Given the description of an element on the screen output the (x, y) to click on. 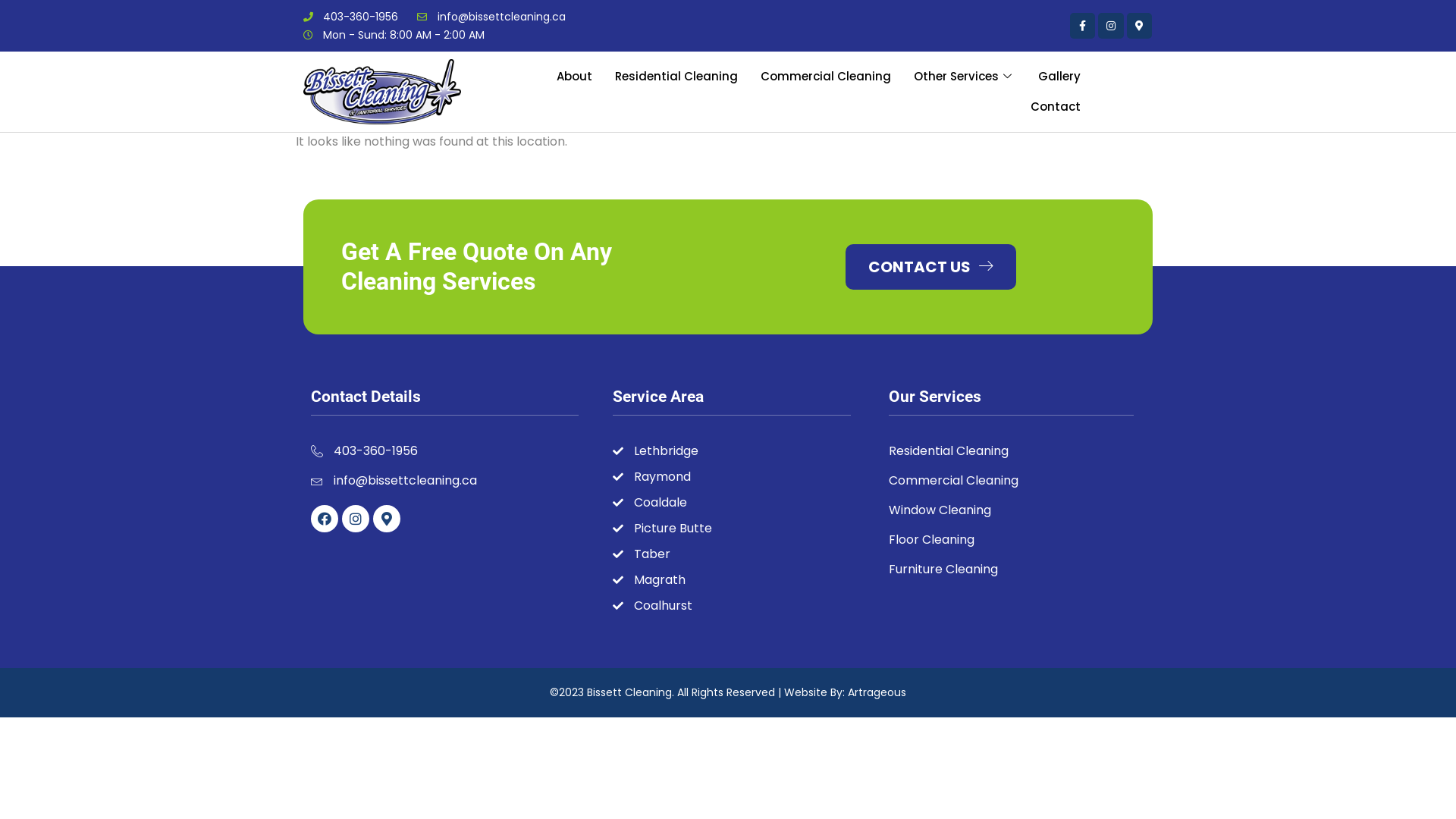
About Element type: text (574, 76)
info@bissettcleaning.ca Element type: text (444, 480)
CONTACT US Element type: text (930, 266)
Residential Cleaning Element type: text (676, 76)
Website By: Artrageous Element type: text (845, 691)
403-360-1956 Element type: text (350, 16)
403-360-1956 Element type: text (444, 451)
Contact Element type: text (1055, 106)
Other Services Element type: text (964, 76)
Gallery Element type: text (1059, 76)
info@bissettcleaning.ca Element type: text (490, 16)
Commercial Cleaning Element type: text (825, 76)
